Given the description of an element on the screen output the (x, y) to click on. 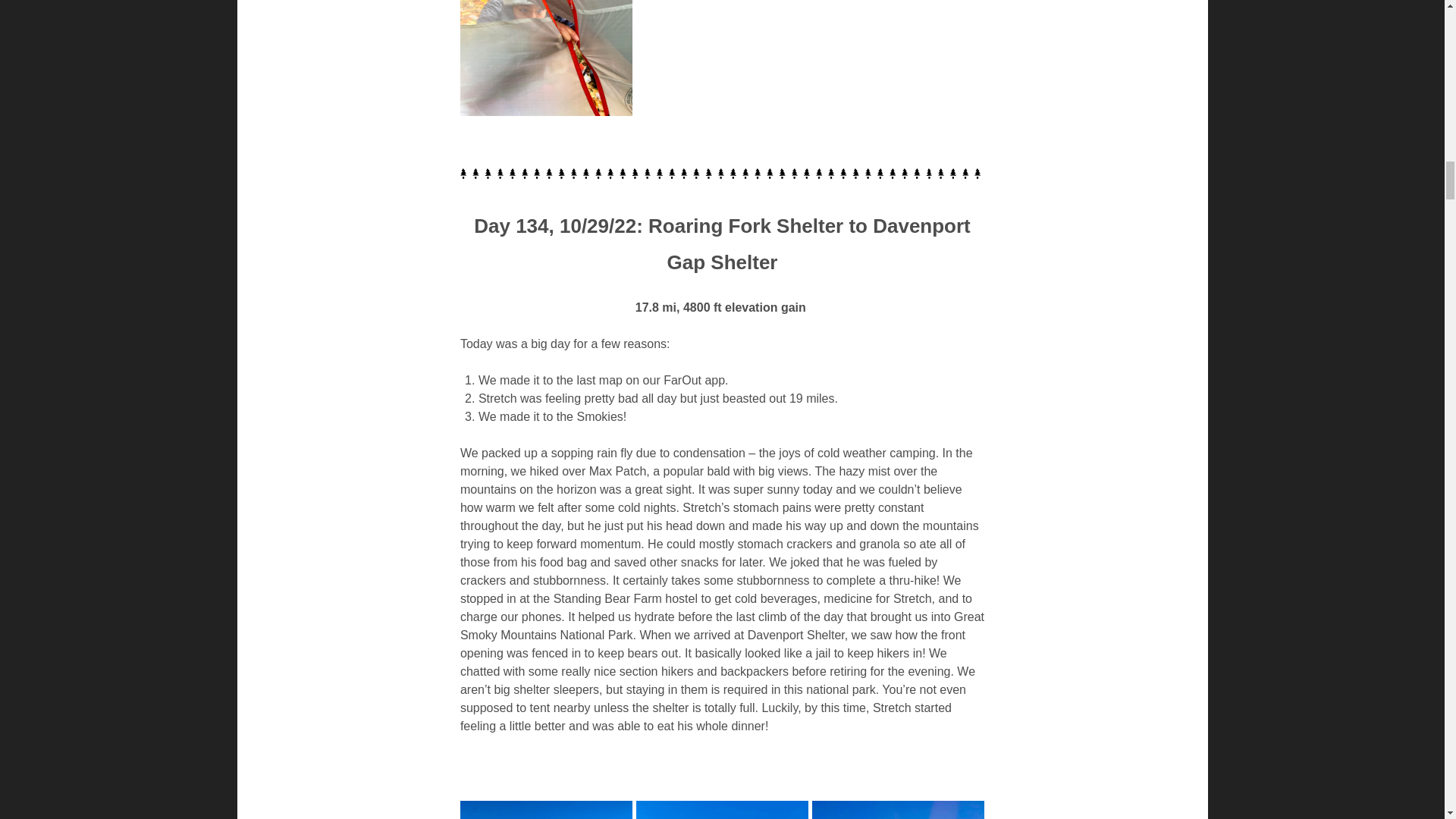
AT Post TN-NC Part 2-05 (722, 809)
AT Post TN-NC Part 2-06 (898, 809)
AT Post TN-NC Part 2-03 (545, 57)
AT Post TN-NC Part 2-04 (545, 809)
